Given the description of an element on the screen output the (x, y) to click on. 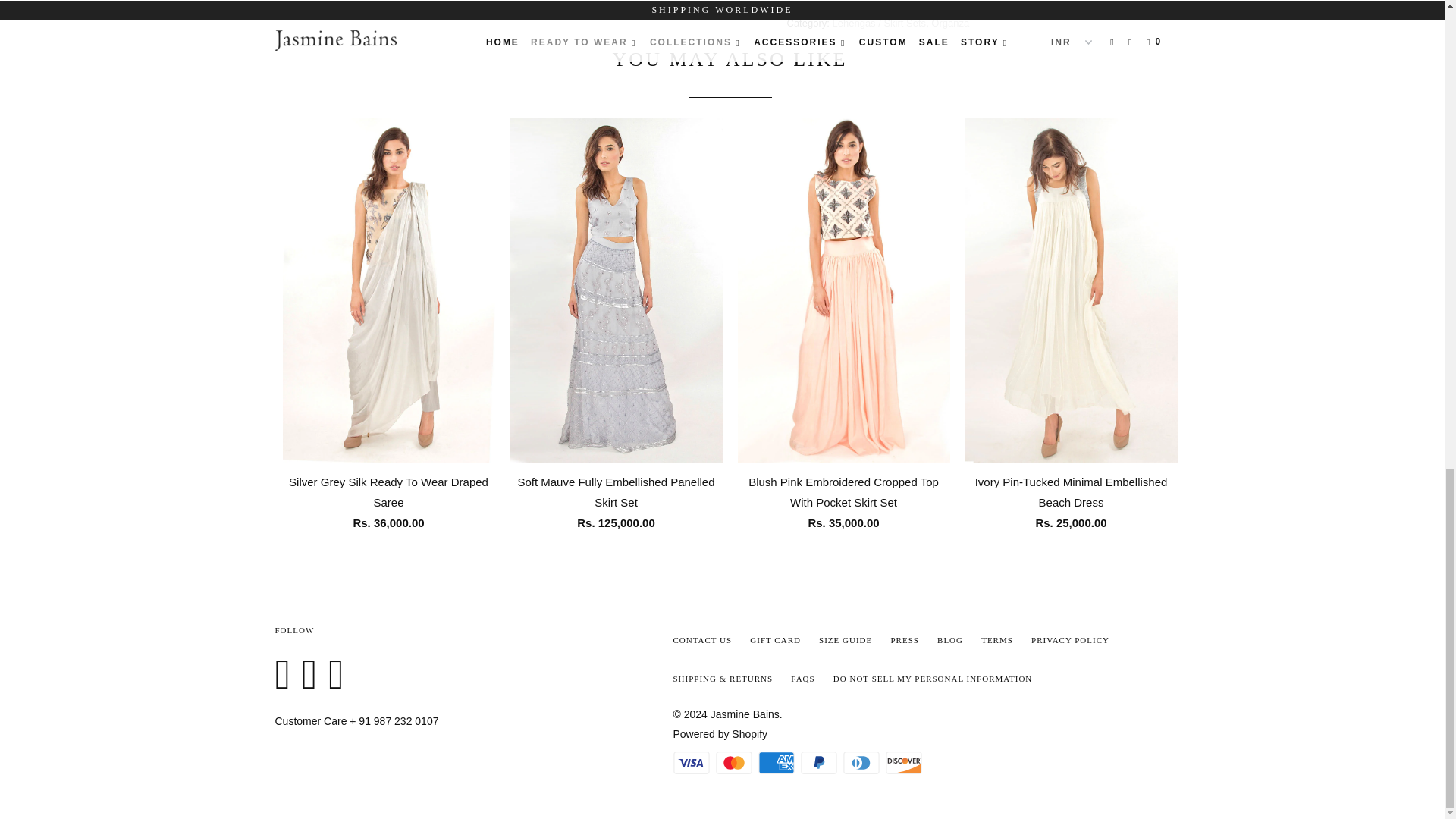
Discover (904, 762)
Diners Club (862, 762)
PayPal (820, 762)
American Express (777, 762)
Visa (692, 762)
Mastercard (735, 762)
